Given the description of an element on the screen output the (x, y) to click on. 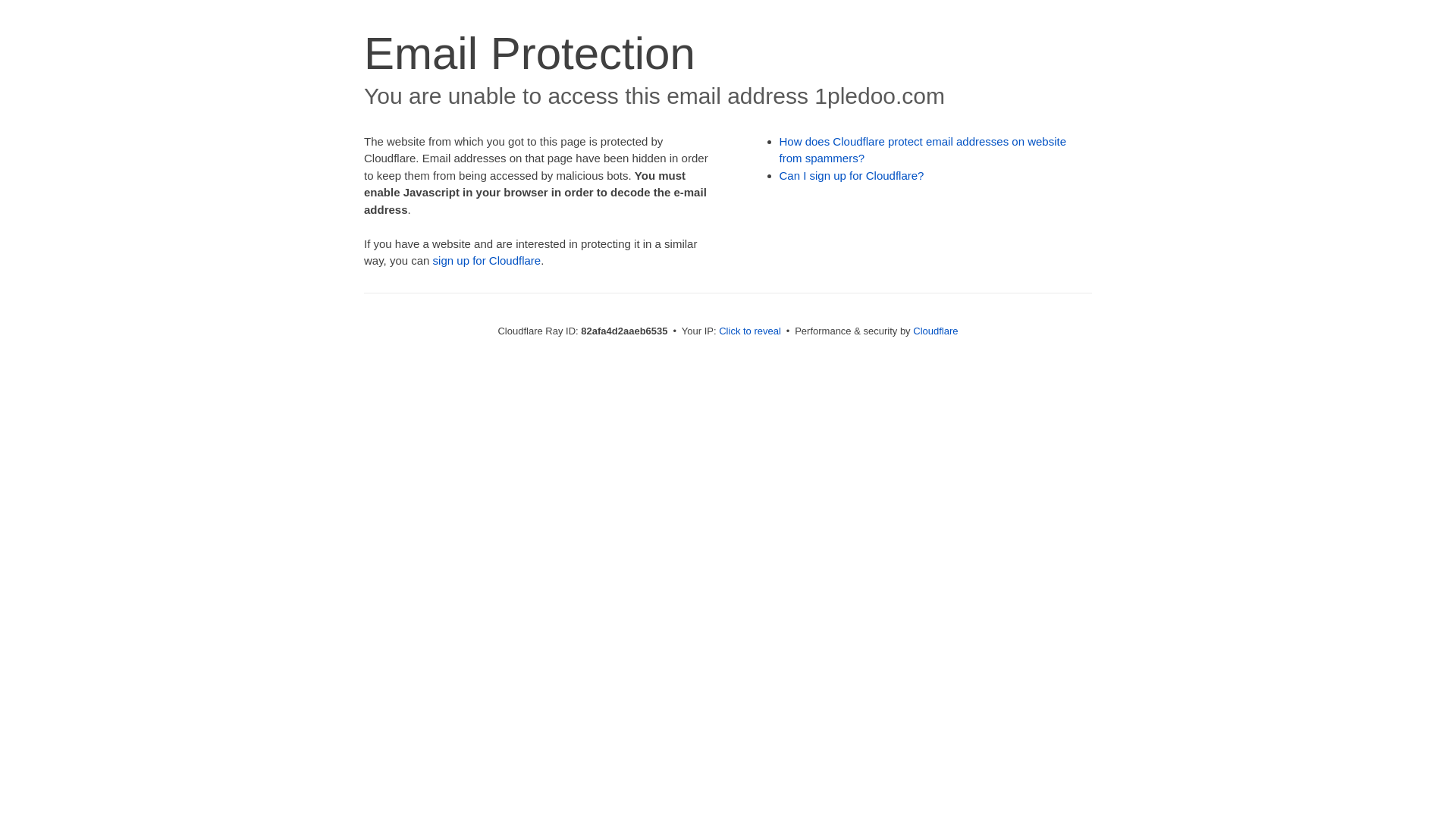
Cloudflare Element type: text (935, 330)
Can I sign up for Cloudflare? Element type: text (851, 175)
sign up for Cloudflare Element type: text (487, 260)
Click to reveal Element type: text (749, 330)
